Given the description of an element on the screen output the (x, y) to click on. 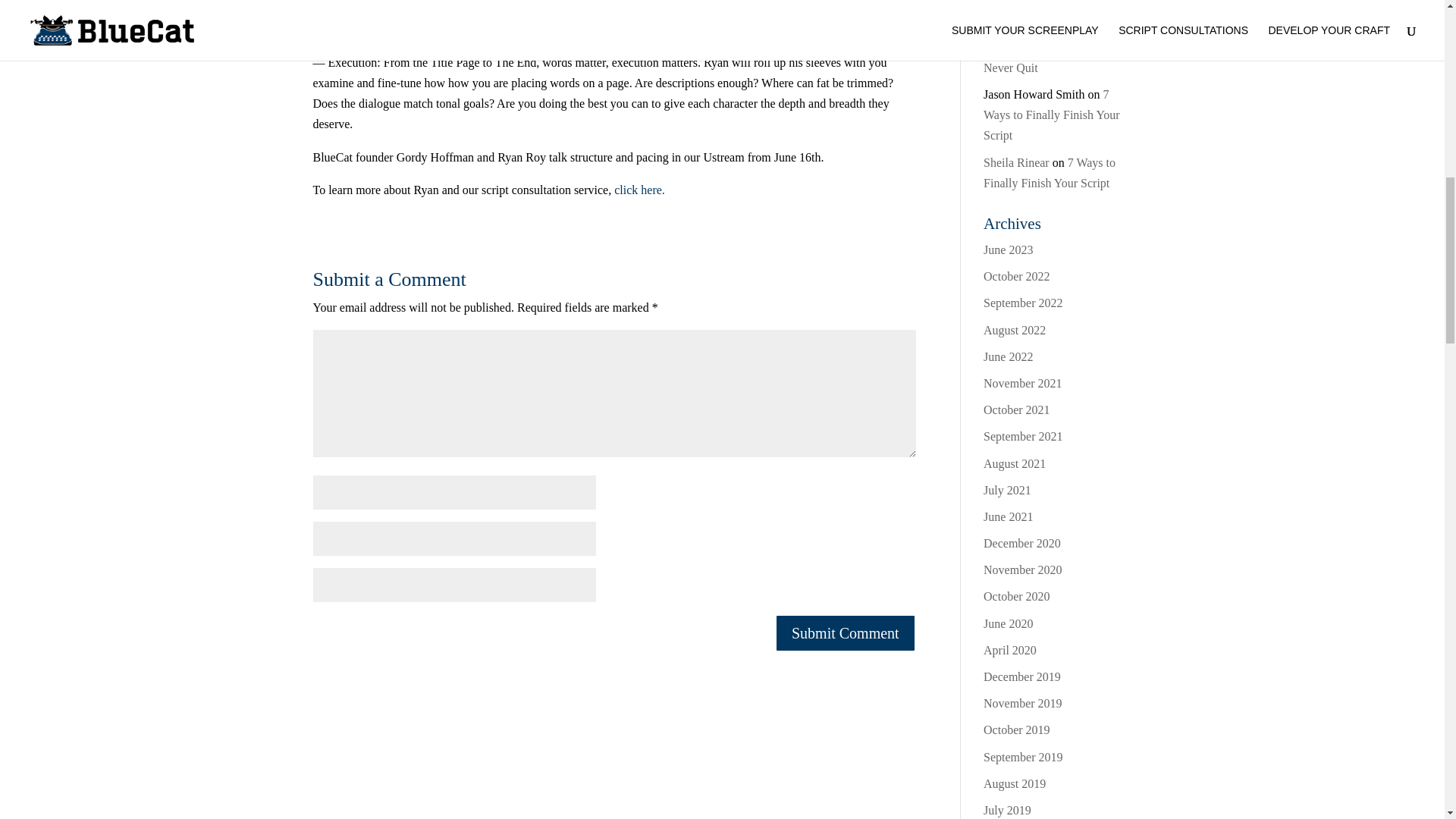
Submit Comment (844, 632)
June 2023 (1008, 249)
7 Ways to Finally Finish Your Script (1049, 172)
September 2022 (1023, 302)
How long does it really take to write a screenplay? (1054, 2)
Writing Goals: Why You Should Never Quit (1042, 46)
August 2022 (1014, 329)
Karen A Lin (1013, 25)
June 2022 (1008, 356)
Submit Comment (844, 632)
